Given the description of an element on the screen output the (x, y) to click on. 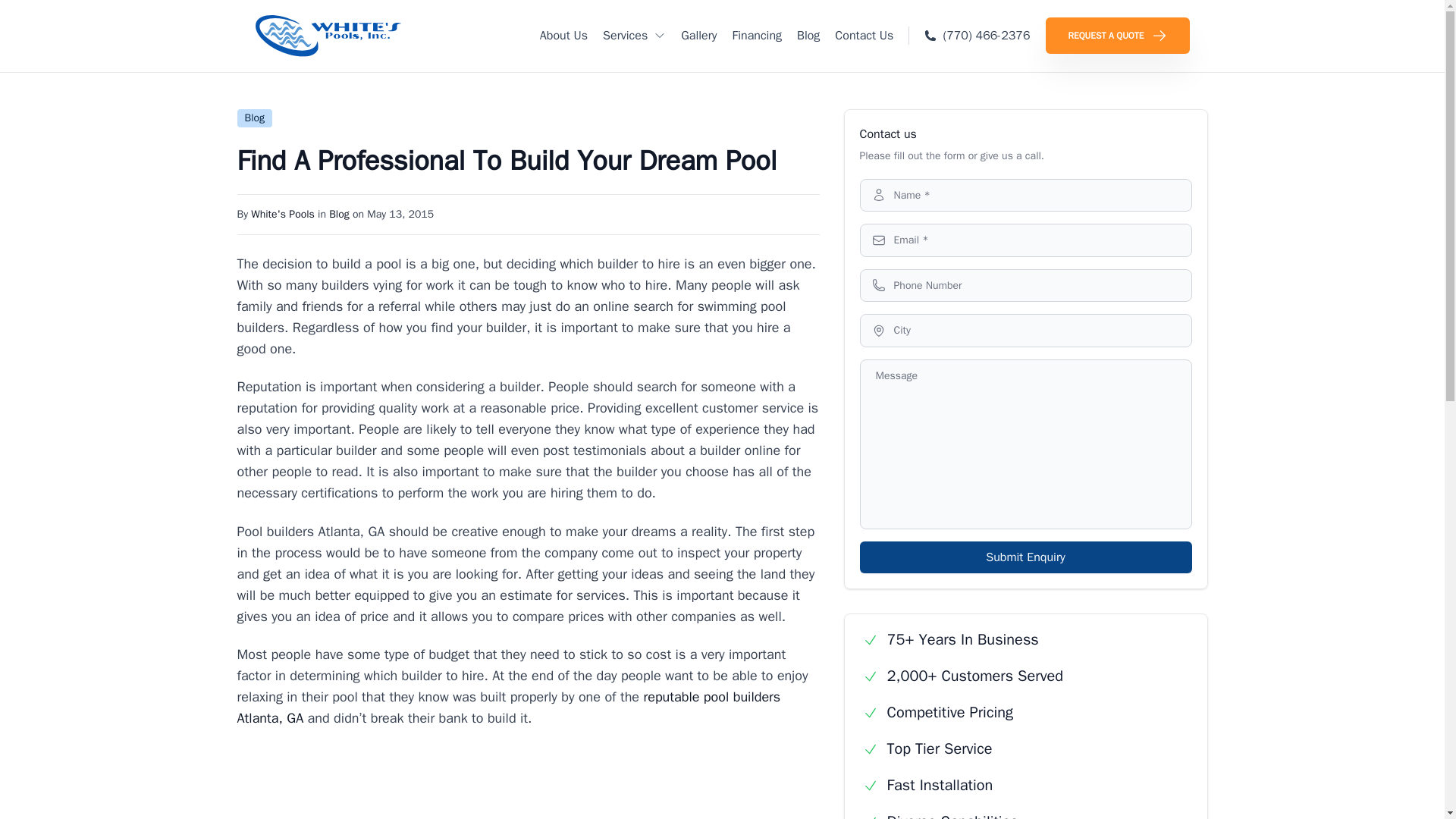
Contact Us (863, 35)
reputable pool builders Atlanta, GA (507, 707)
Gallery (698, 35)
February 8th, 2022 (399, 214)
Blog (807, 35)
REQUEST A QUOTE (1117, 35)
Submit Enquiry (1026, 557)
Financing (757, 35)
Services (633, 35)
About Us (564, 35)
Blog (339, 214)
White's Pools (282, 214)
